Given the description of an element on the screen output the (x, y) to click on. 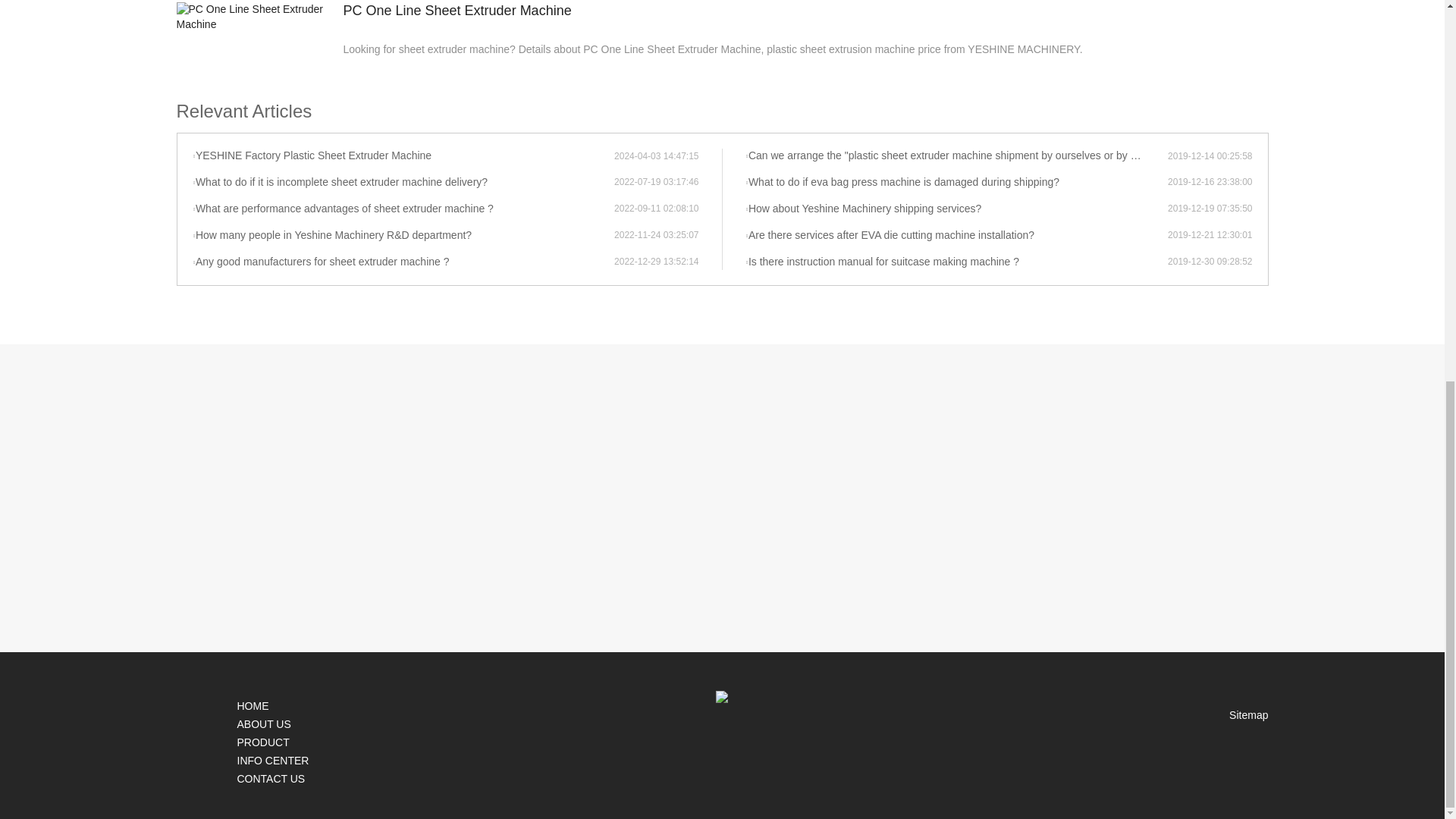
What are performance advantages of sheet extruder machine ? (403, 209)
YESHINE Factory Plastic Sheet Extruder Machine (403, 155)
Any good manufacturers for sheet extruder machine ? (403, 262)
How about Yeshine Machinery shipping services? (955, 209)
